Given the description of an element on the screen output the (x, y) to click on. 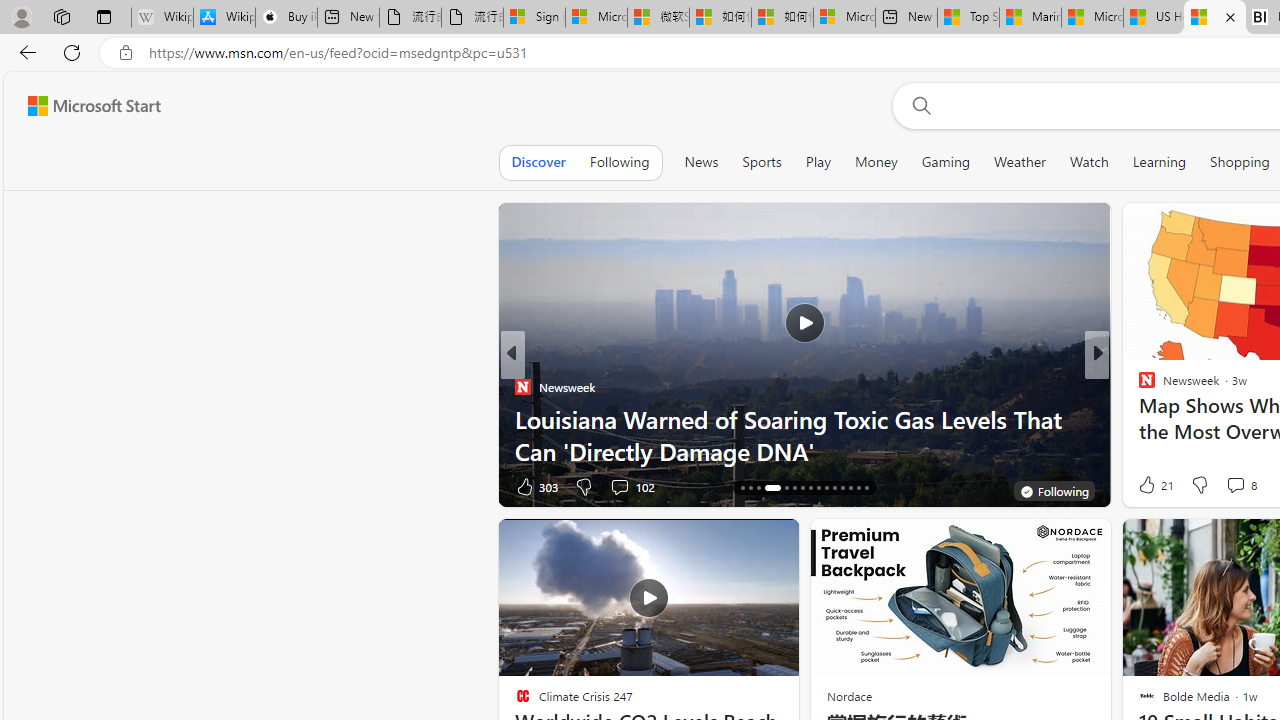
AutomationID: tab-17 (750, 487)
AutomationID: tab-16 (742, 487)
AutomationID: tab-25 (825, 487)
You're following Newsweek (1053, 490)
Like (1140, 486)
